Given the description of an element on the screen output the (x, y) to click on. 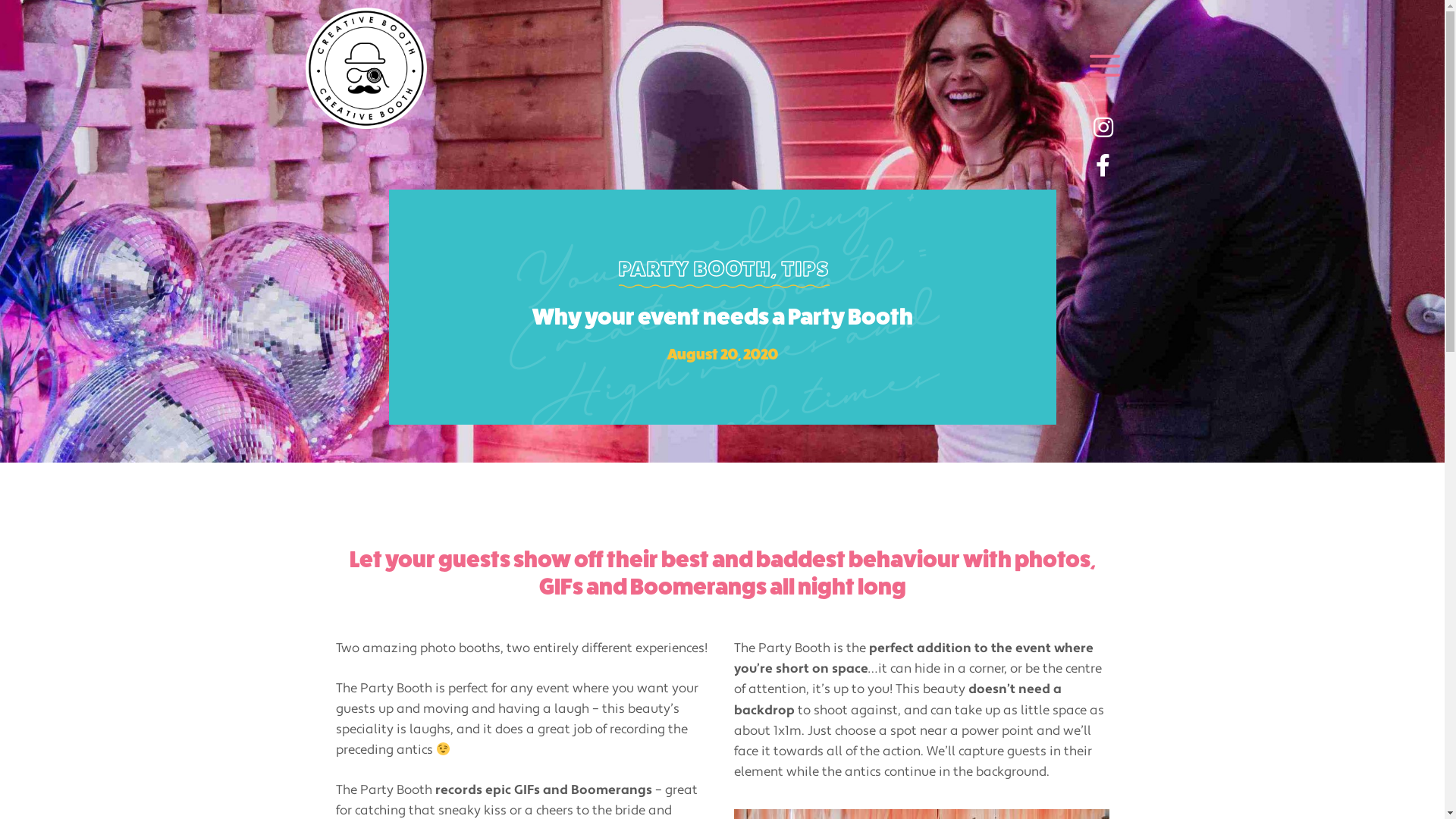
PARTY BOOTH Element type: text (694, 268)
Menu Element type: text (1104, 68)
Creative Booth Element type: hover (365, 68)
Creative Booth Element type: hover (368, 68)
TIPS Element type: text (805, 268)
